Given the description of an element on the screen output the (x, y) to click on. 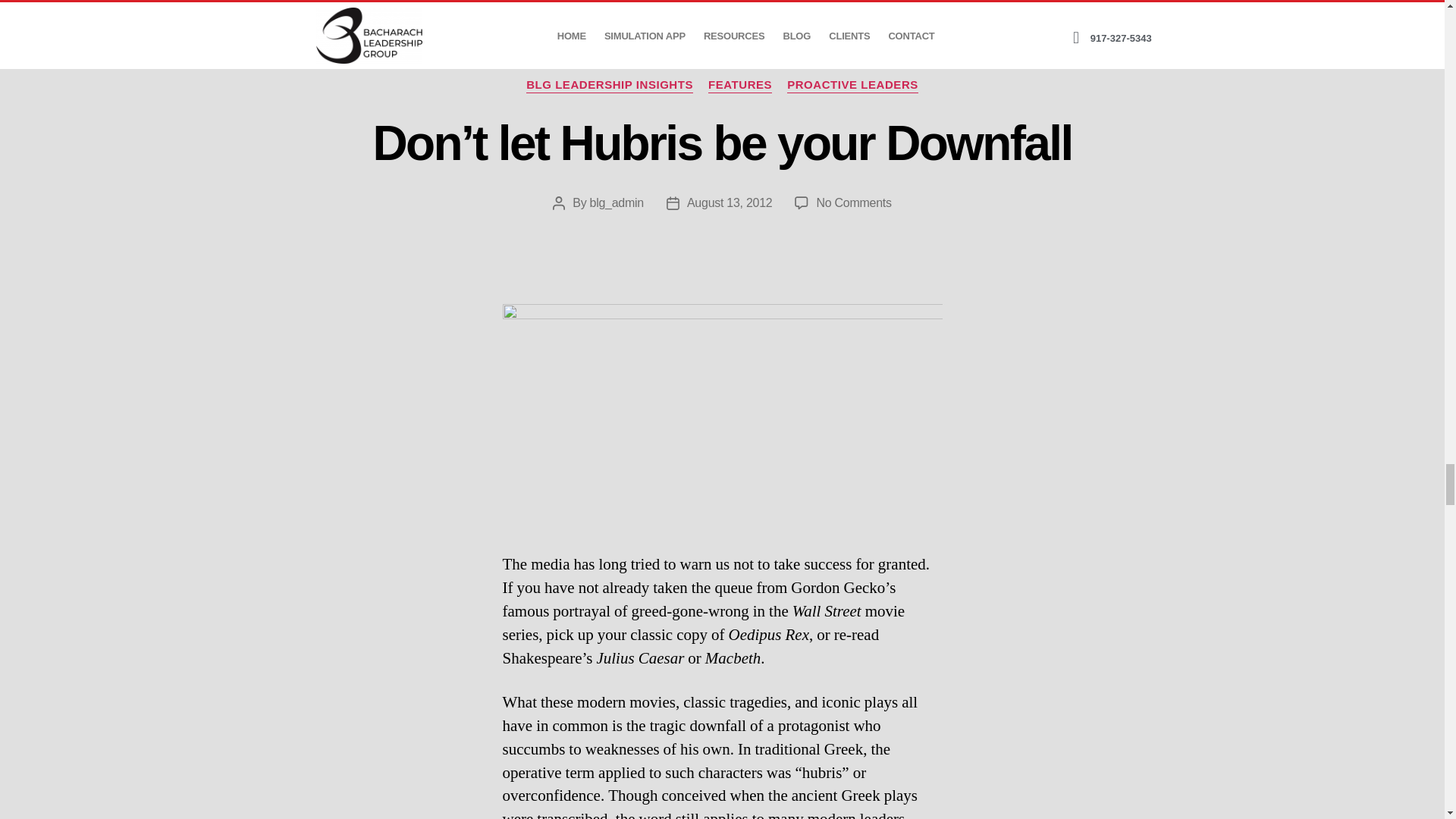
The Ego Trap (722, 413)
